Given the description of an element on the screen output the (x, y) to click on. 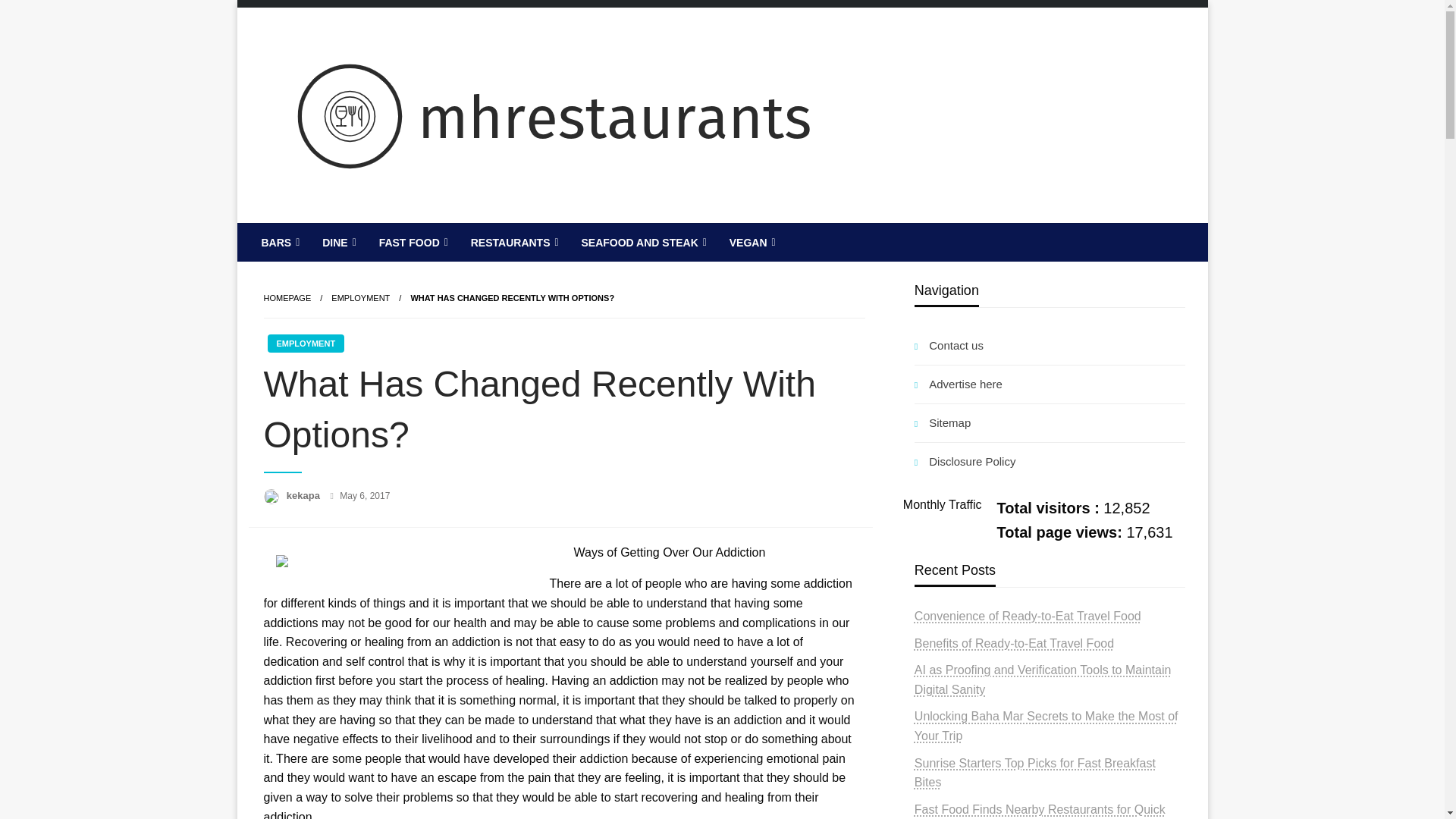
VEGAN (751, 242)
MHRESTAURANTS (398, 234)
What Has Changed Recently With Options? (512, 297)
FAST FOOD (412, 242)
kekapa (304, 495)
EMPLOYMENT (304, 343)
EMPLOYMENT (360, 297)
BARS (279, 242)
HOMEPAGE (287, 297)
RESTAURANTS (513, 242)
Homepage (287, 297)
Employment (360, 297)
DINE (336, 242)
SEAFOOD AND STEAK (642, 242)
